Given the description of an element on the screen output the (x, y) to click on. 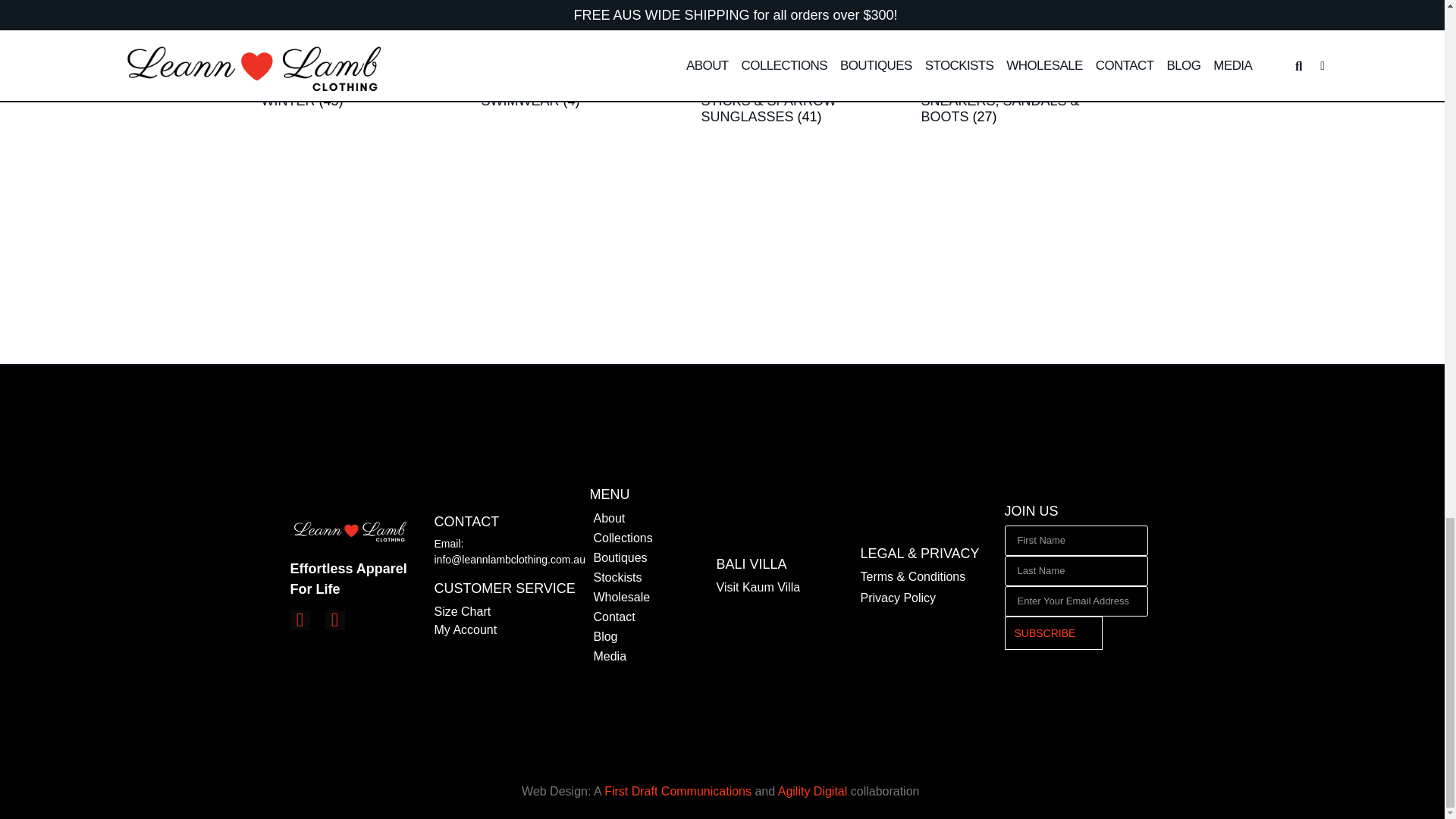
web footer version (349, 531)
